Given the description of an element on the screen output the (x, y) to click on. 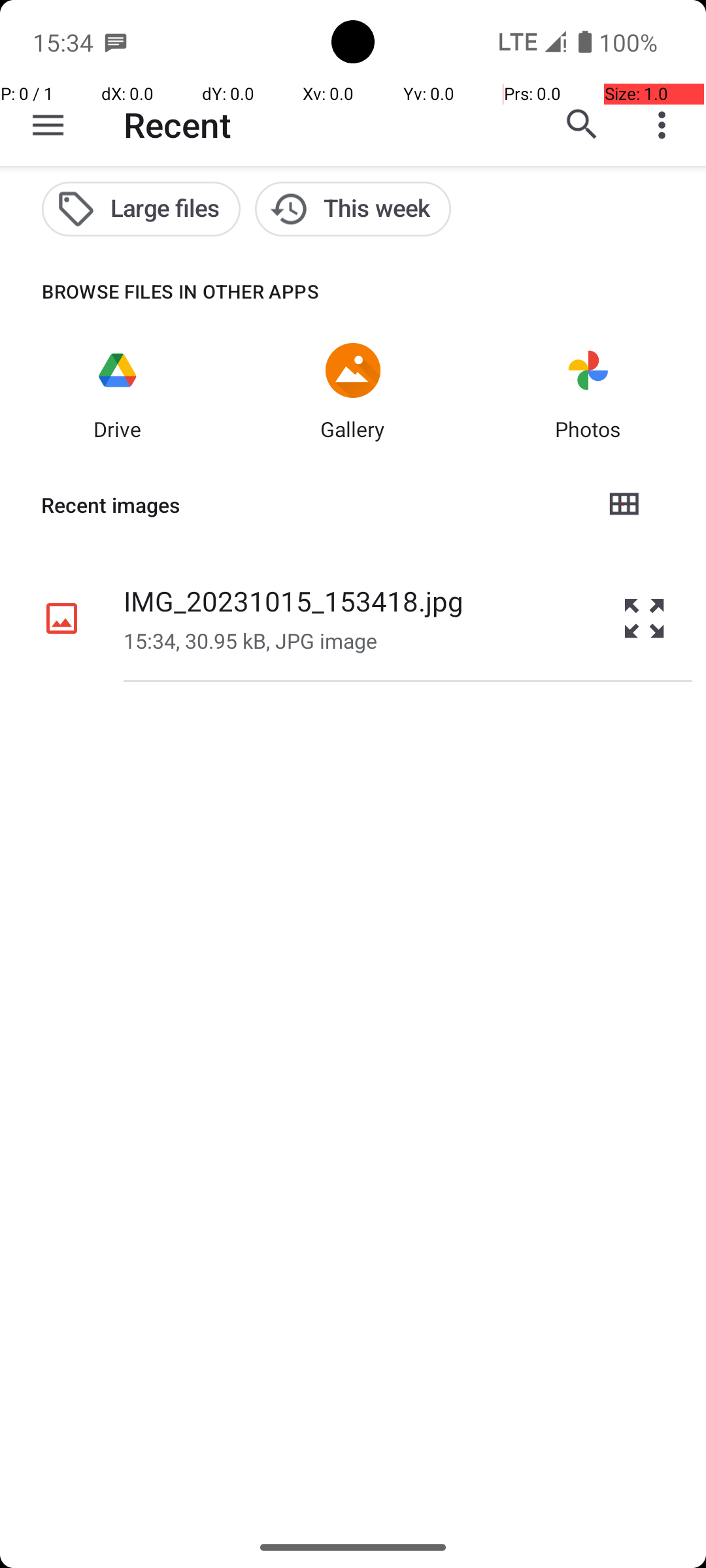
Recent images Element type: android.widget.TextView (311, 504)
IMG_20231015_153418.jpg Element type: android.widget.TextView (293, 600)
15:34, 30.95 kB, JPG image Element type: android.widget.TextView (250, 640)
Preview the file IMG_20231015_153418.jpg Element type: android.widget.FrameLayout (644, 618)
